Given the description of an element on the screen output the (x, y) to click on. 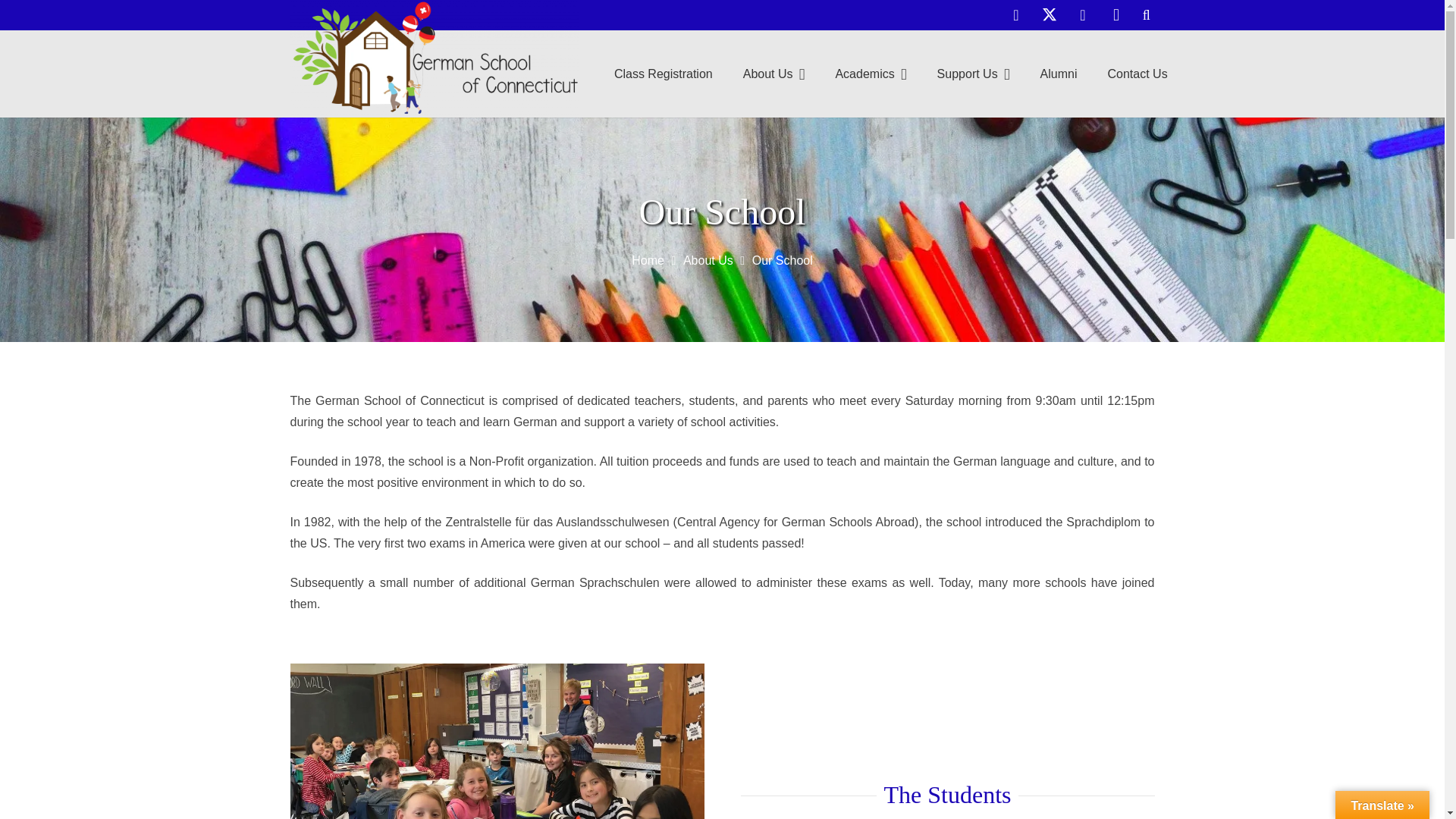
Twitter (1048, 15)
About Us (774, 73)
Home (647, 259)
LinkedIn (1082, 15)
About Us (707, 259)
Instagram (1115, 15)
Contact Us (1137, 73)
Support Us (973, 73)
Class Registration (663, 73)
Academics (870, 73)
